Given the description of an element on the screen output the (x, y) to click on. 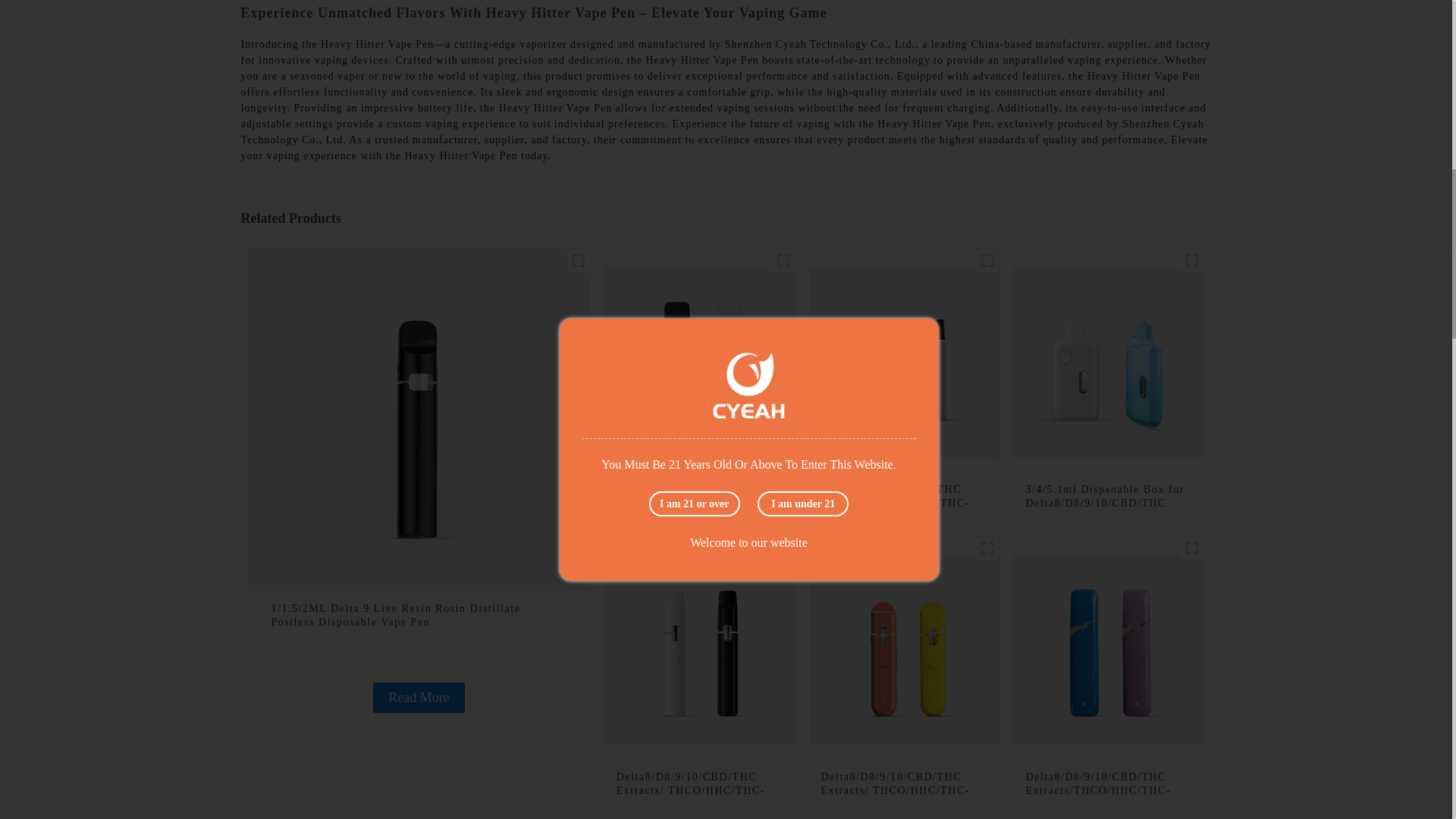
Read More (418, 697)
CD53 CBD THC D8 D9 DISPOSABLE VAPE DEVICE (1192, 260)
CD29 CBD THC D8 D9 DISPOSABLE VAPE DEVICE (782, 260)
CD31  CBD THC D8 D9 DISPOSABLE VAPE DEVICE (782, 548)
CD40 CBD THC D8 D9 DISPOSABLE VAPE DEVICE (986, 548)
CD58-2 CBD THC D8 D9 DISPOSABLE VAPE DEVICE (578, 260)
CD55 CBD THC D8 D9 DISPOSABLE VAPE DEVICE (986, 260)
